Given the description of an element on the screen output the (x, y) to click on. 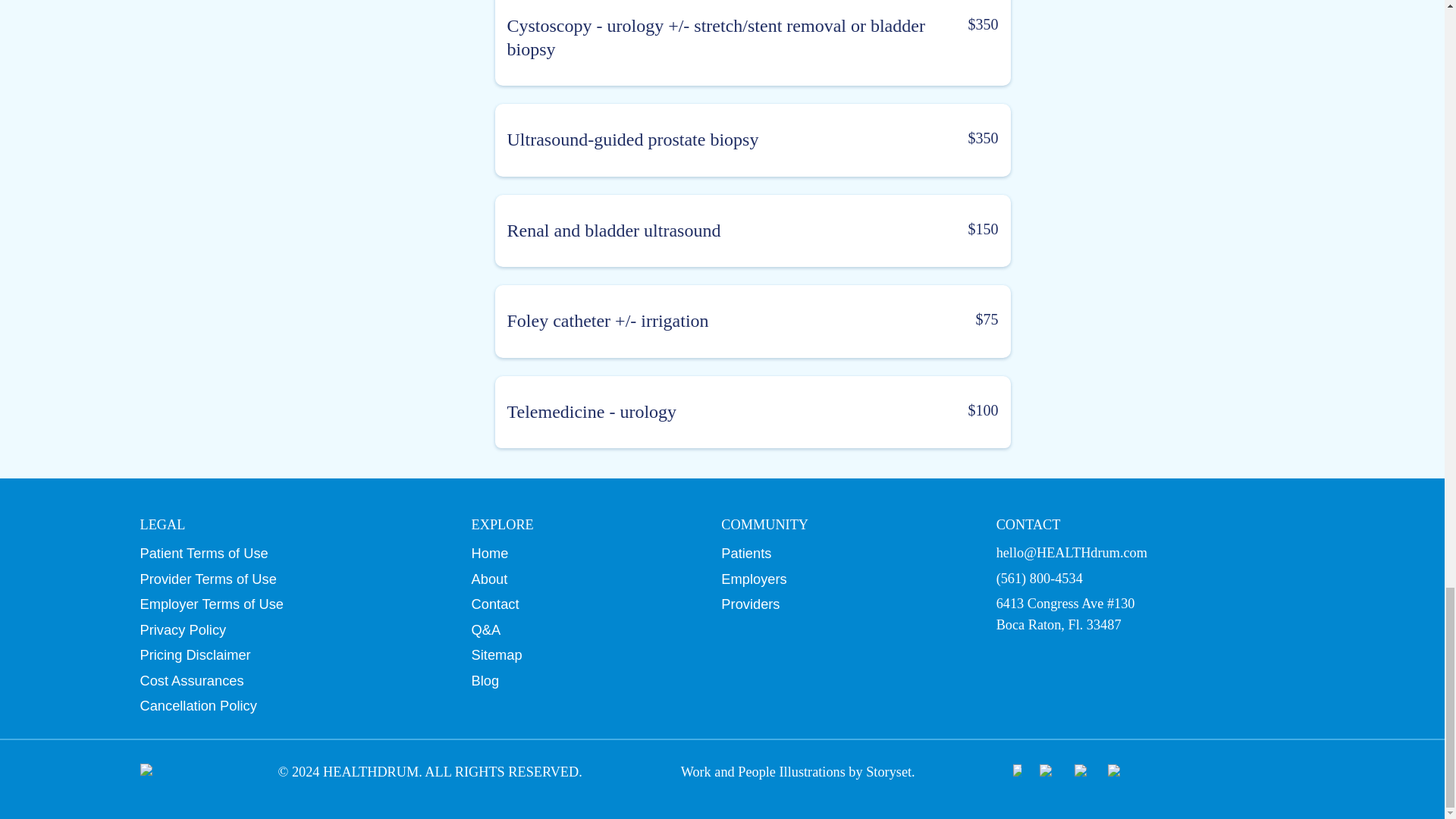
Provider Terms of Use (290, 578)
Blog (581, 680)
Providers (842, 603)
Cost Assurances (290, 680)
Employer Terms of Use (290, 603)
Home (581, 552)
Sitemap (581, 654)
Pricing Disclaimer (290, 654)
Contact (581, 603)
Patient Terms of Use (290, 552)
Privacy Policy (290, 629)
Patients (842, 552)
Cancellation Policy (290, 705)
Employers (842, 578)
About (581, 578)
